Given the description of an element on the screen output the (x, y) to click on. 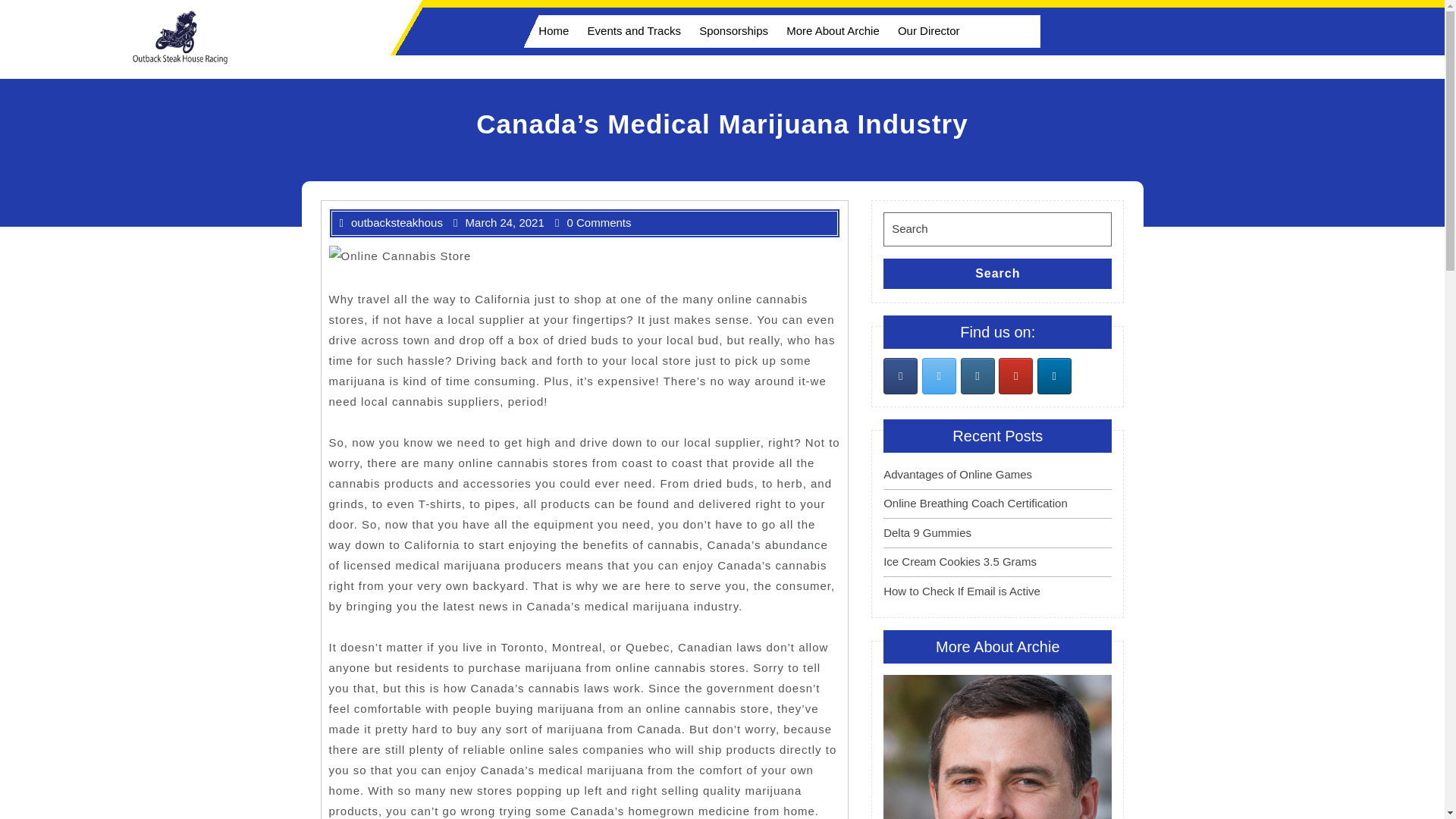
Our Director (928, 30)
More About Archie (832, 30)
Delta 9 Gummies (927, 532)
Events and Tracks (633, 30)
Online Breathing Coach Certification (975, 502)
Outback Steak House Racing on Facebook (900, 375)
Outback Steak House Racing on Linkedin (1053, 375)
Outback Steak House Racing on X Twitter (938, 375)
Sponsorships (733, 30)
Advantages of Online Games (957, 473)
Ice Cream Cookies 3.5 Grams (959, 561)
Home (549, 30)
Outback Steak House Racing on Youtube (1015, 375)
Outback Steak House Racing on Instagram (976, 375)
Search (997, 273)
